Given the description of an element on the screen output the (x, y) to click on. 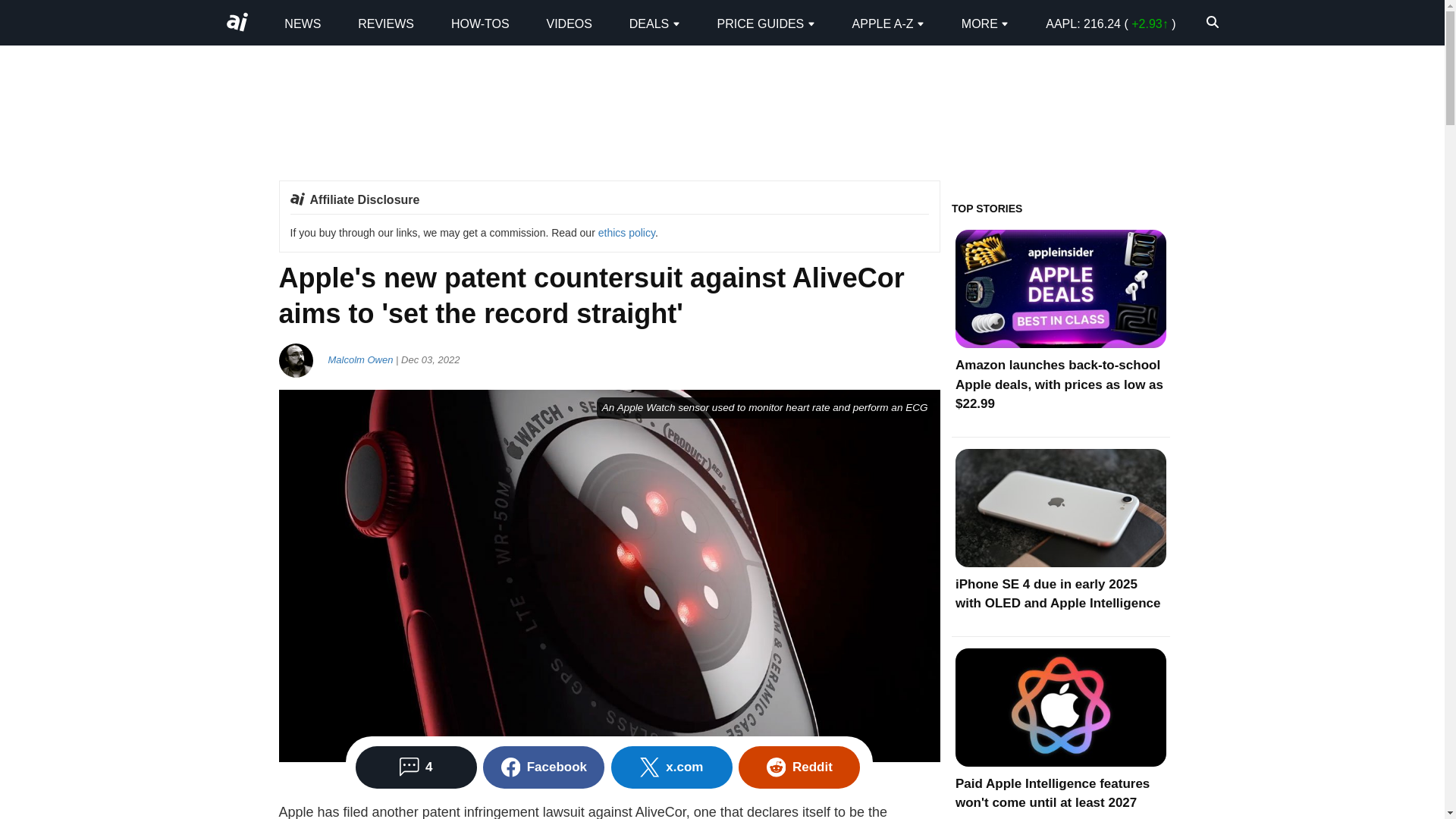
Reviews (385, 23)
News (301, 23)
HOW-TOS (480, 23)
NEWS (301, 23)
REVIEWS (385, 23)
Videos (568, 23)
How-Tos (480, 23)
VIDEOS (568, 23)
